Given the description of an element on the screen output the (x, y) to click on. 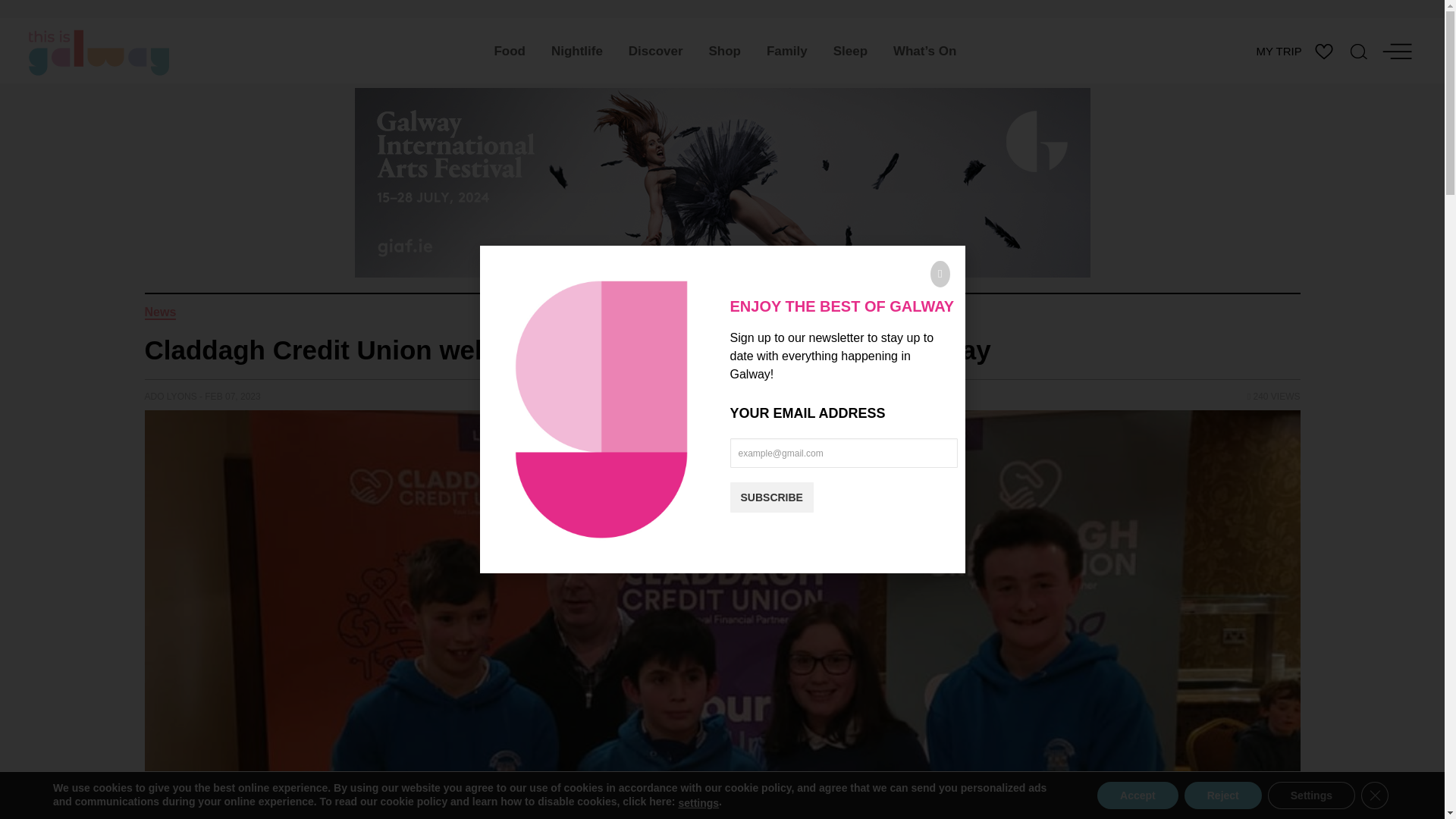
SUBSCRIBE (770, 497)
Shop (724, 50)
Discover (655, 50)
Nightlife (577, 50)
MY TRIP (1281, 51)
News (160, 312)
Food (510, 50)
Family (786, 50)
Sleep (850, 50)
